Given the description of an element on the screen output the (x, y) to click on. 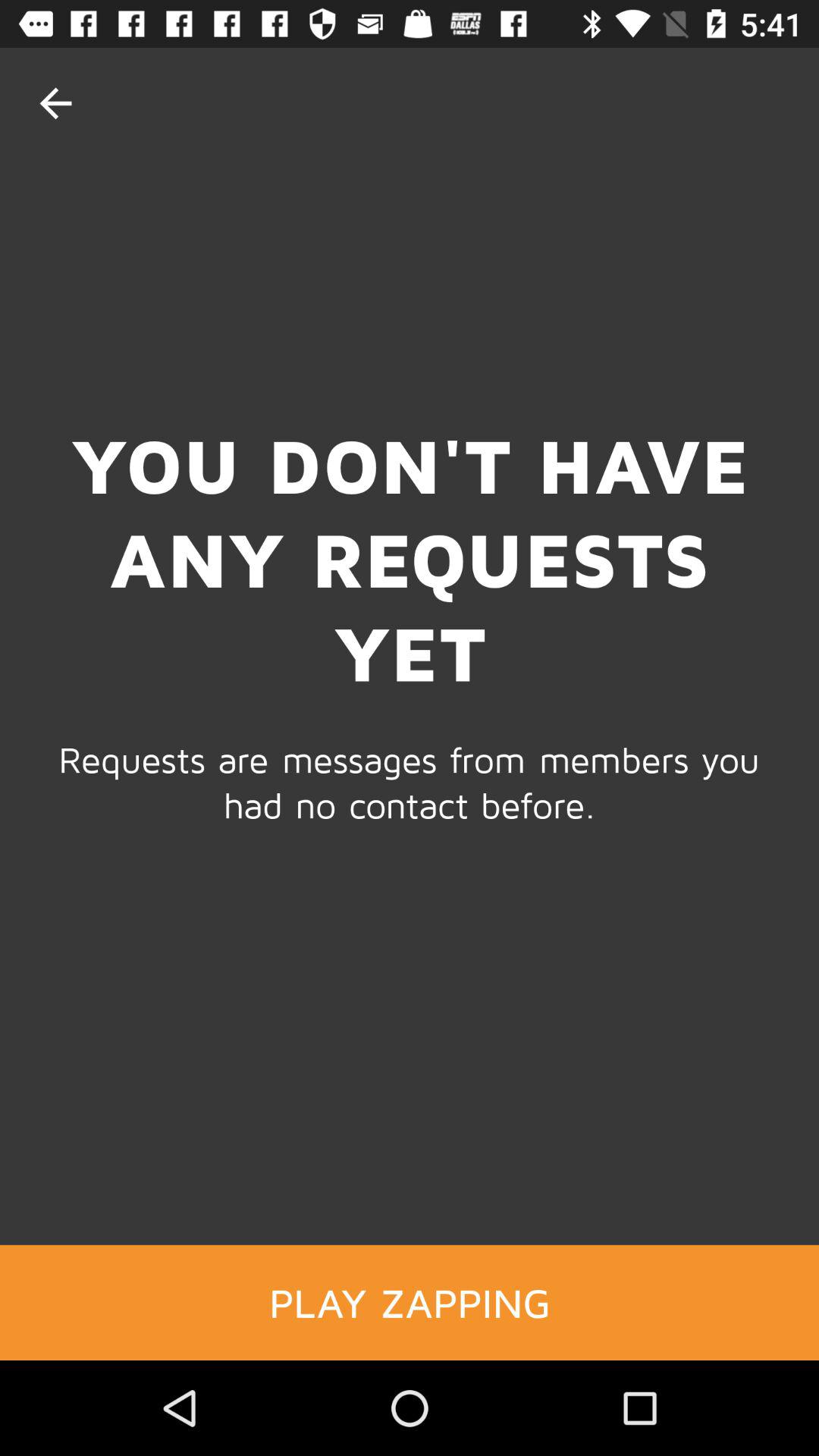
turn off the icon below the requests are messages icon (409, 1302)
